Given the description of an element on the screen output the (x, y) to click on. 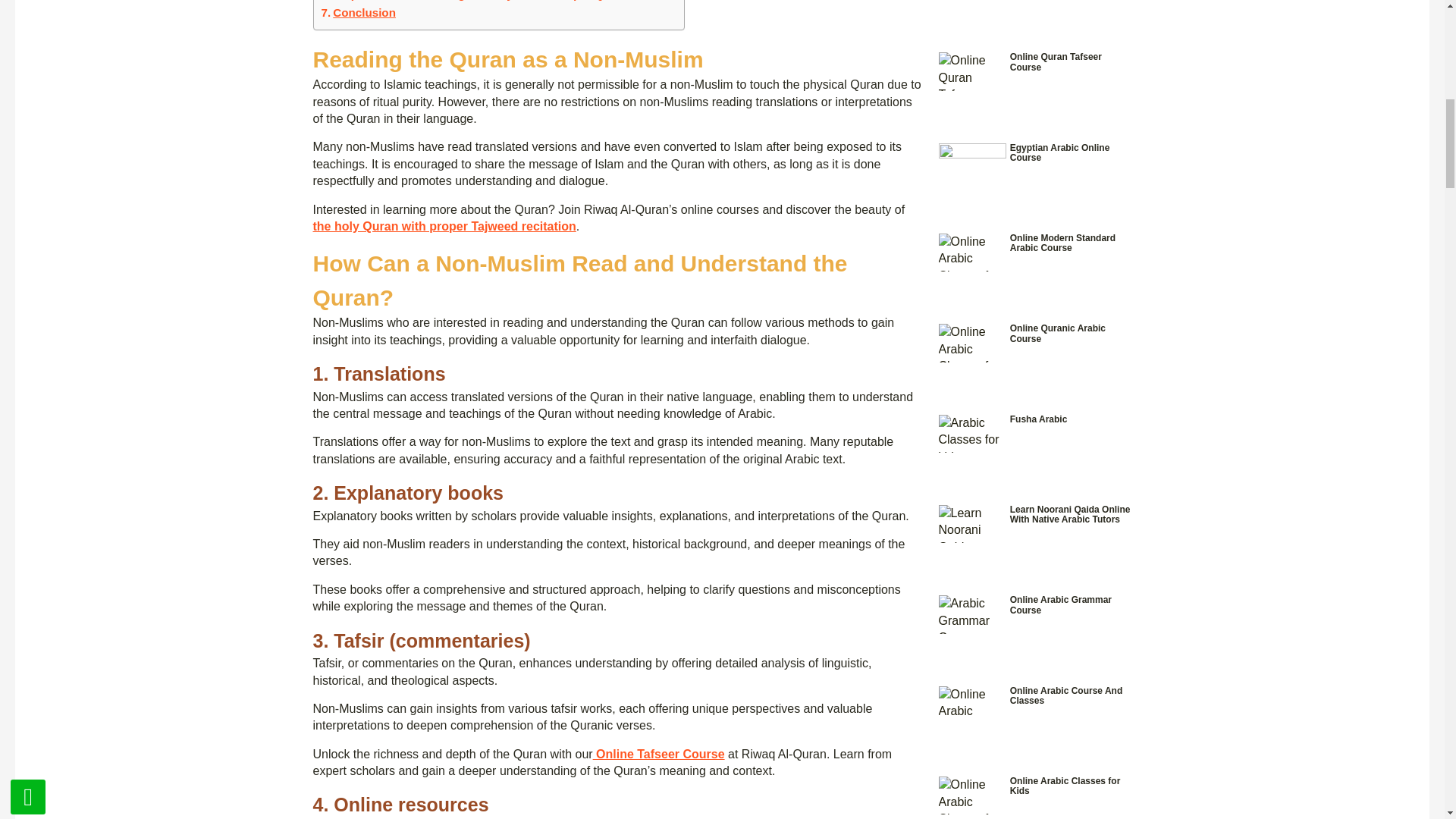
Conclusion (358, 13)
